Given the description of an element on the screen output the (x, y) to click on. 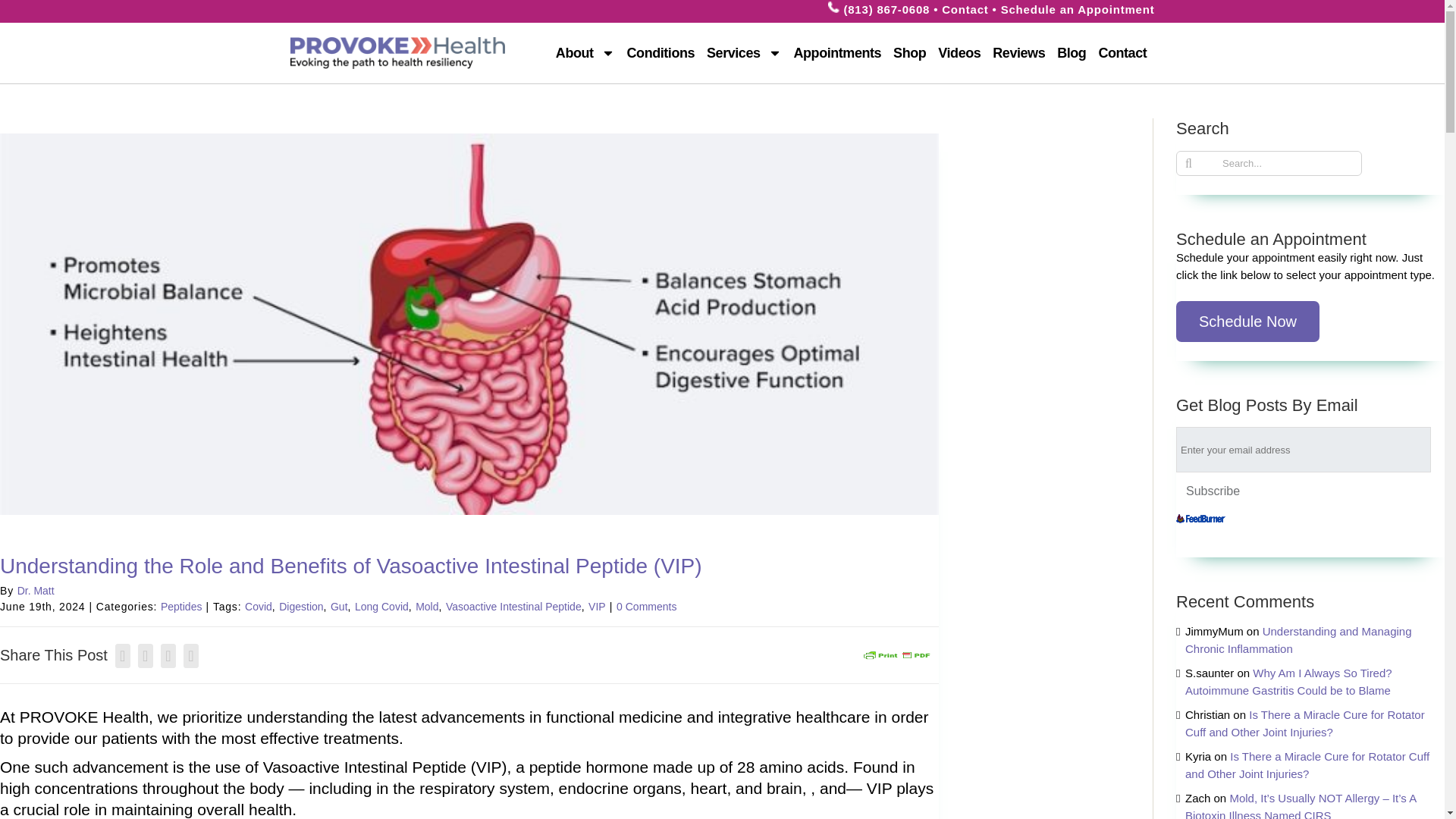
About (585, 52)
Enter your email address (1303, 449)
Conditions (660, 52)
Contact (1122, 52)
Reviews (1018, 52)
Schedule an Appointment (1077, 9)
Contact (965, 9)
Services (743, 52)
Shop (909, 52)
Appointments (837, 52)
Enter your email address (1303, 449)
Posts by Dr. Matt (36, 590)
Videos (959, 52)
Blog (1071, 52)
